Given the description of an element on the screen output the (x, y) to click on. 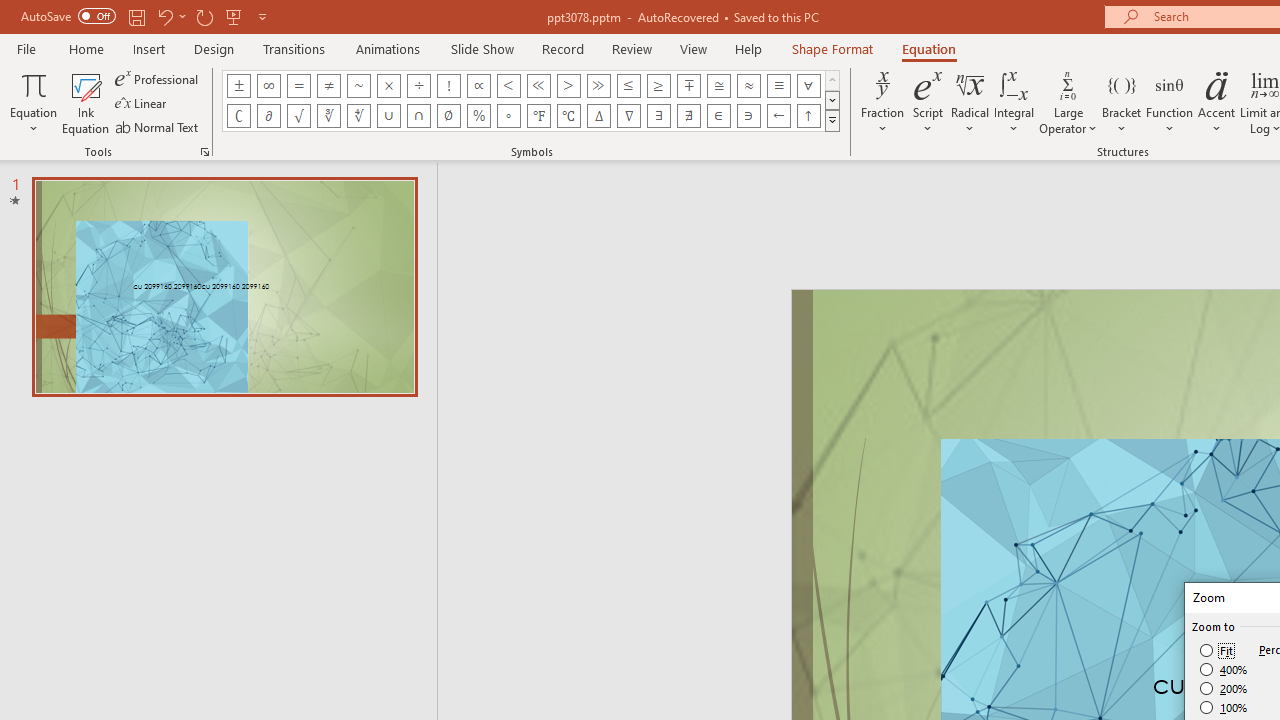
Equation Symbol Greater Than (568, 85)
Equation Symbol There Does Not Exist (689, 115)
Equation Symbol Not Equal To (328, 85)
Equation Symbol Minus Plus (689, 85)
Equation Symbol Infinity (268, 85)
Shape Format (832, 48)
Equation Symbol Union (388, 115)
Equation Symbol Up Arrow (808, 115)
Equation Symbol Radical Sign (298, 115)
Equation Symbol Greater Than or Equal To (658, 85)
Integral (1014, 102)
Ink Equation (86, 102)
Equation Symbol Degrees Fahrenheit (538, 115)
Equation Symbol Factorial (448, 85)
